Given the description of an element on the screen output the (x, y) to click on. 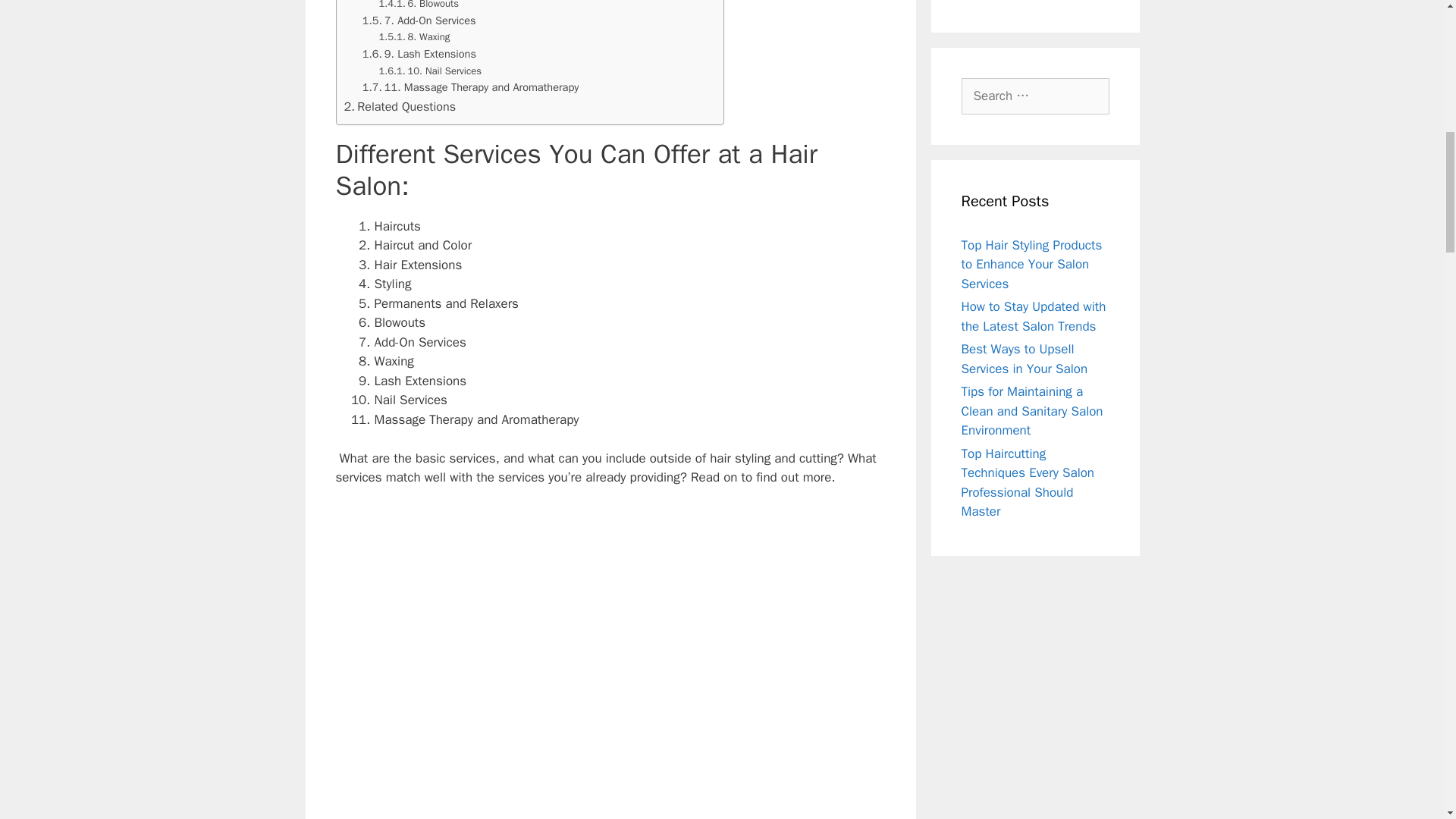
7. Add-On Services (419, 20)
Related Questions (400, 107)
10. Nail Services (429, 71)
6. Blowouts (419, 6)
8. Waxing (413, 37)
6. Blowouts (419, 6)
11. Massage Therapy and Aromatherapy (470, 87)
9. Lash Extensions (419, 54)
9. Lash Extensions (419, 54)
8. Waxing (413, 37)
7. Add-On Services (419, 20)
